Given the description of an element on the screen output the (x, y) to click on. 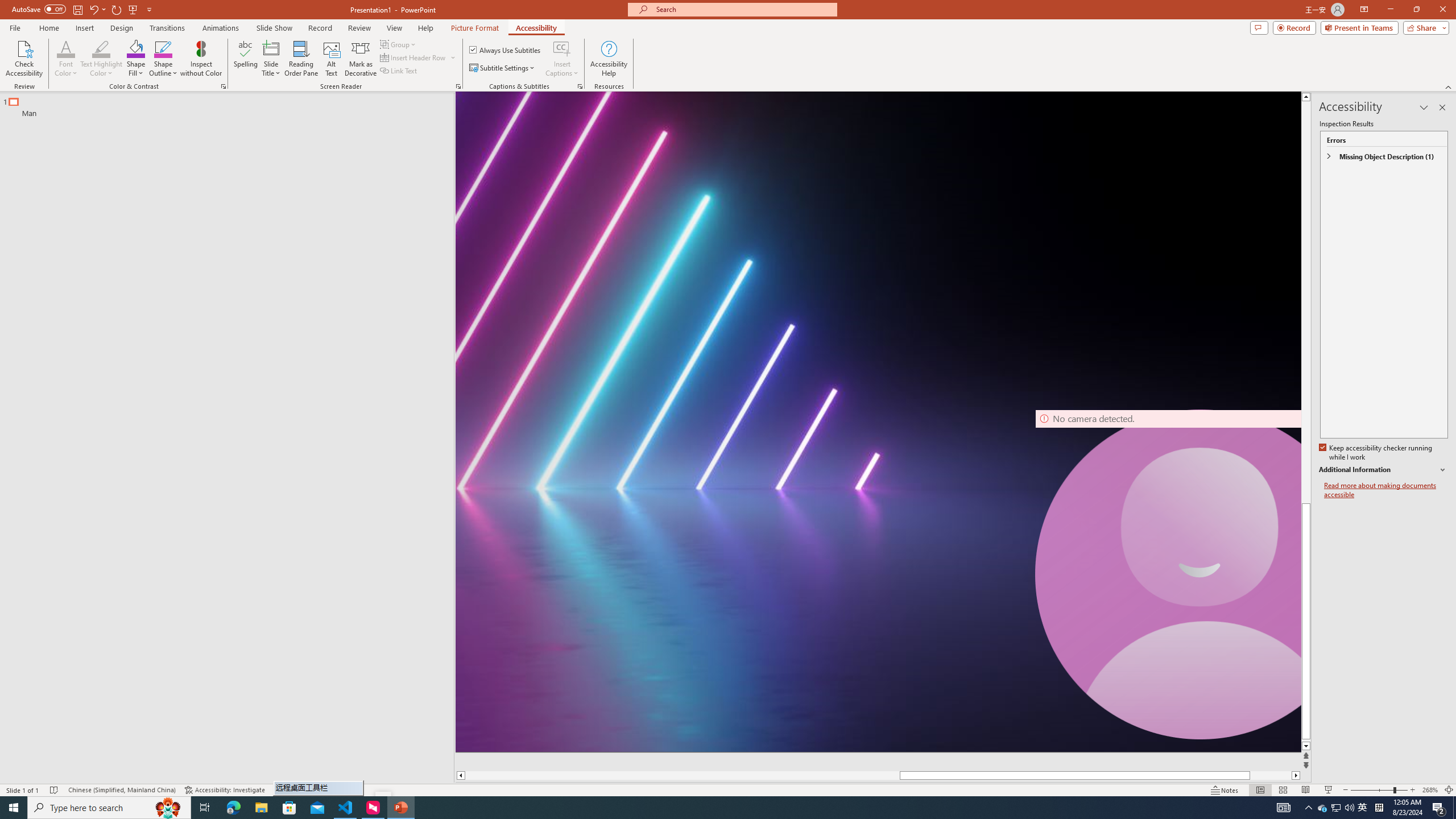
Zoom Out (1372, 790)
Font Color (65, 58)
Notes  (1225, 790)
Undo (92, 9)
Record (320, 28)
Text Highlight Color (100, 48)
Accessibility Help (608, 58)
Zoom (1379, 790)
Keep accessibility checker running while I work (1376, 452)
Screen Reader (458, 85)
Insert (83, 28)
Inspect without Color (201, 58)
Transitions (167, 28)
Accessibility (536, 28)
